Given the description of an element on the screen output the (x, y) to click on. 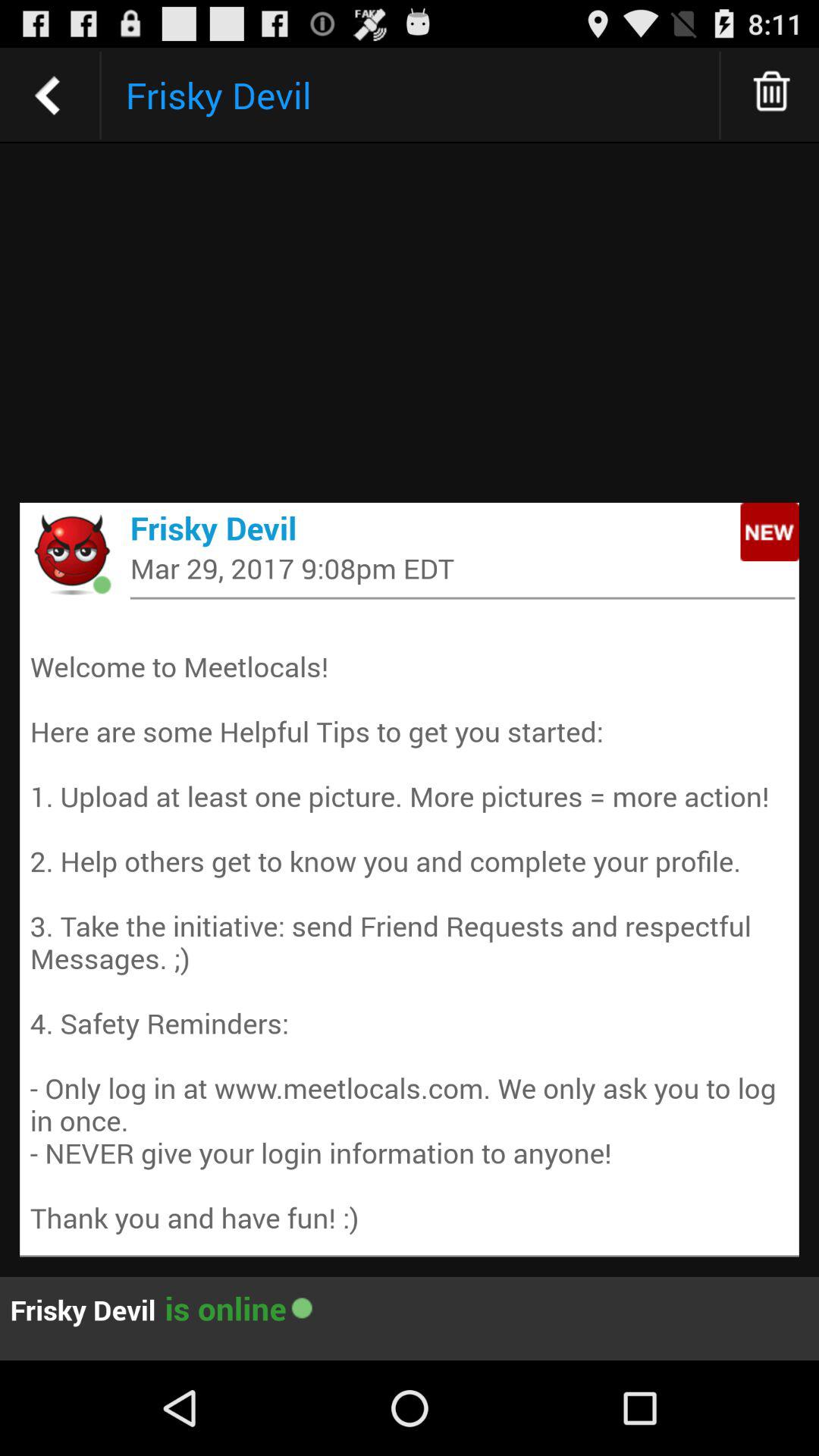
jump to the mar 29 2017 item (462, 567)
